Given the description of an element on the screen output the (x, y) to click on. 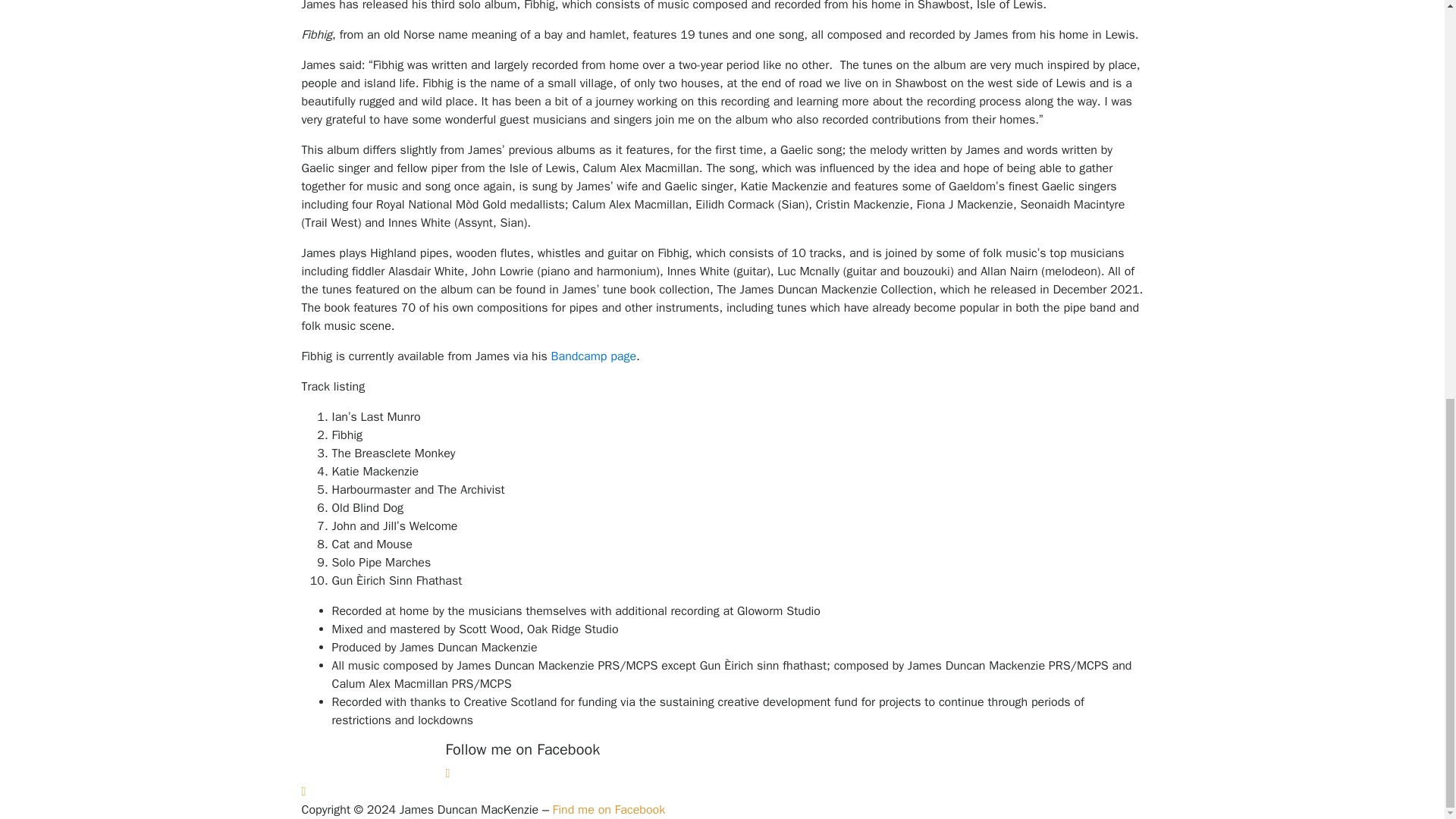
Find me on Facebook (609, 809)
Bandcamp page (593, 355)
